Given the description of an element on the screen output the (x, y) to click on. 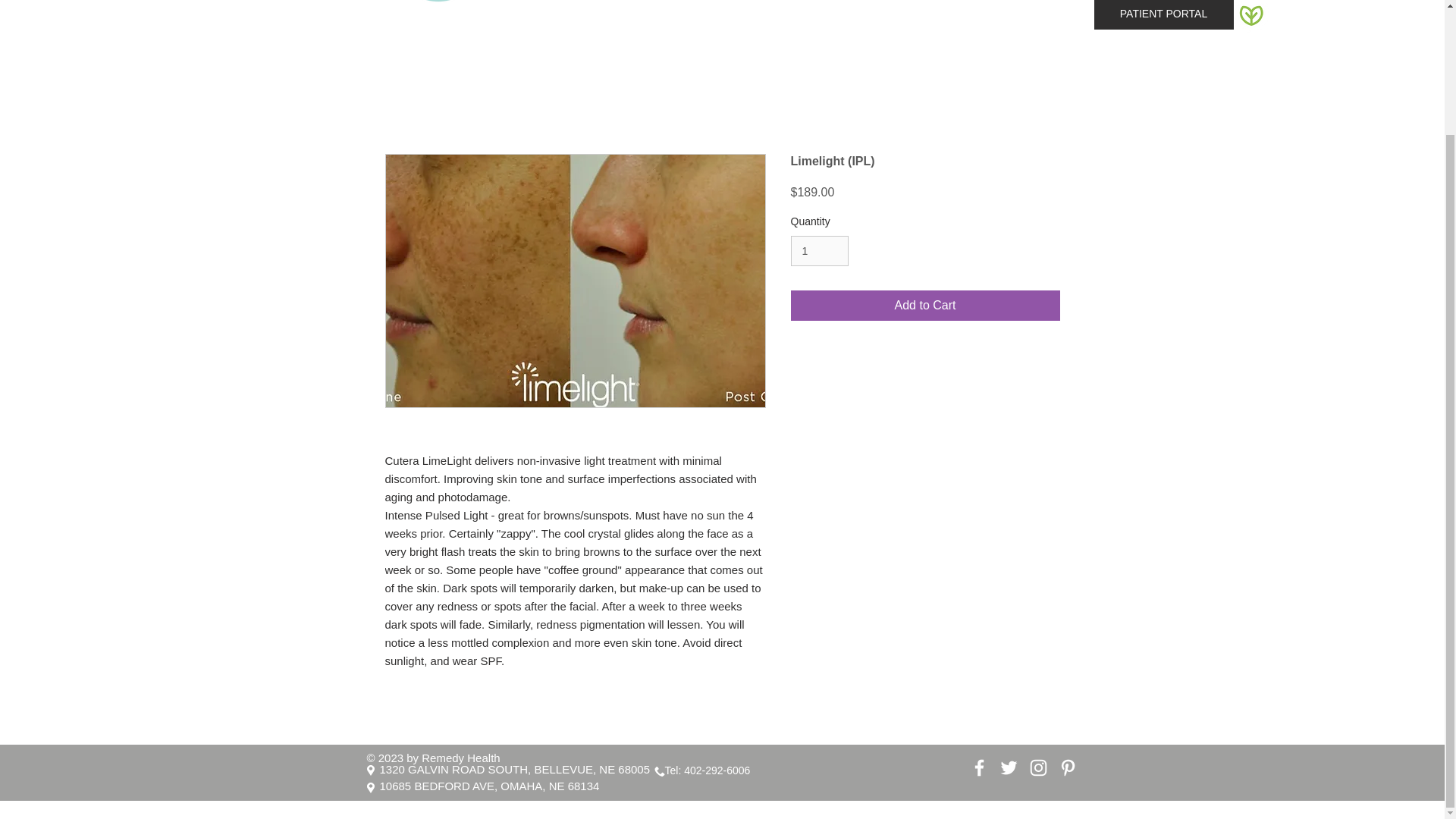
PATIENT PORTAL (1163, 14)
1 (818, 250)
Add to Cart (924, 305)
